Given the description of an element on the screen output the (x, y) to click on. 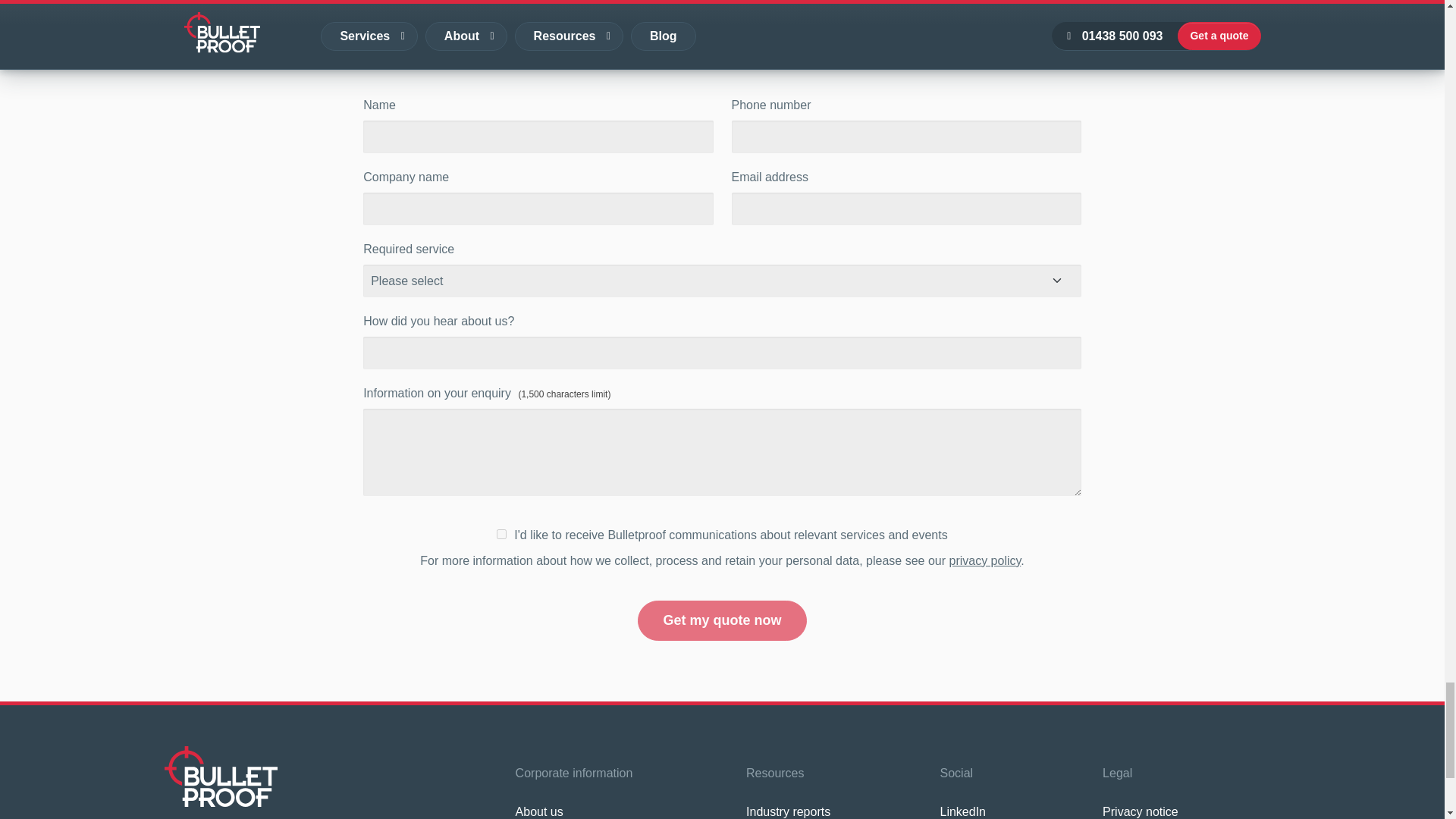
1 (501, 533)
Get my quote now (721, 620)
